Given the description of an element on the screen output the (x, y) to click on. 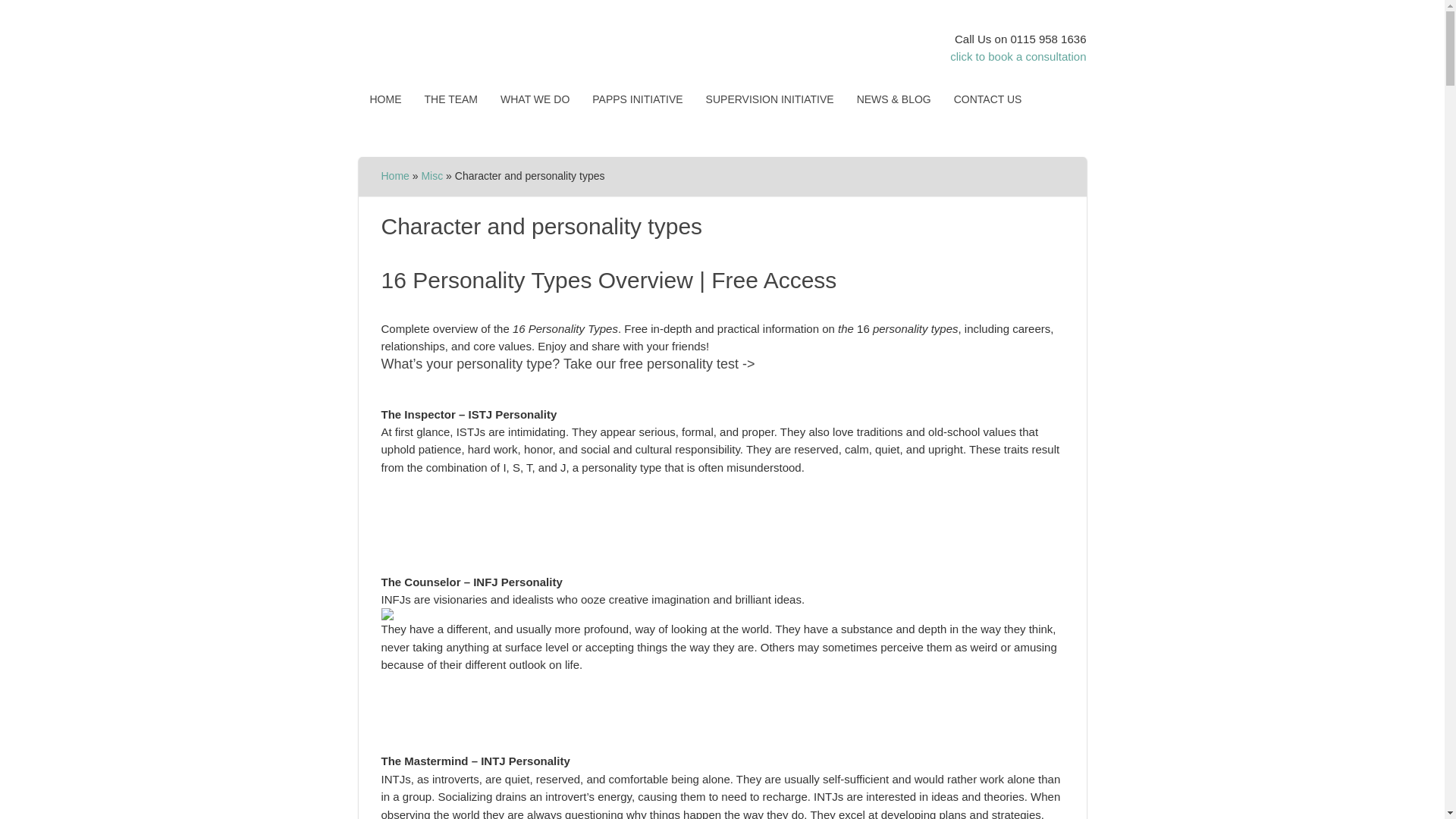
THE WRIGHT INITIATIVE (490, 43)
Home (394, 175)
FACEBOOK (373, 128)
TWITTER (1047, 100)
The Wright Initiative Team (450, 98)
The Supervision Initiative (769, 98)
WHAT WE DO (534, 98)
click to book a consultation (1018, 56)
Misc (431, 175)
SUPERVISION INITIATIVE (769, 98)
